Given the description of an element on the screen output the (x, y) to click on. 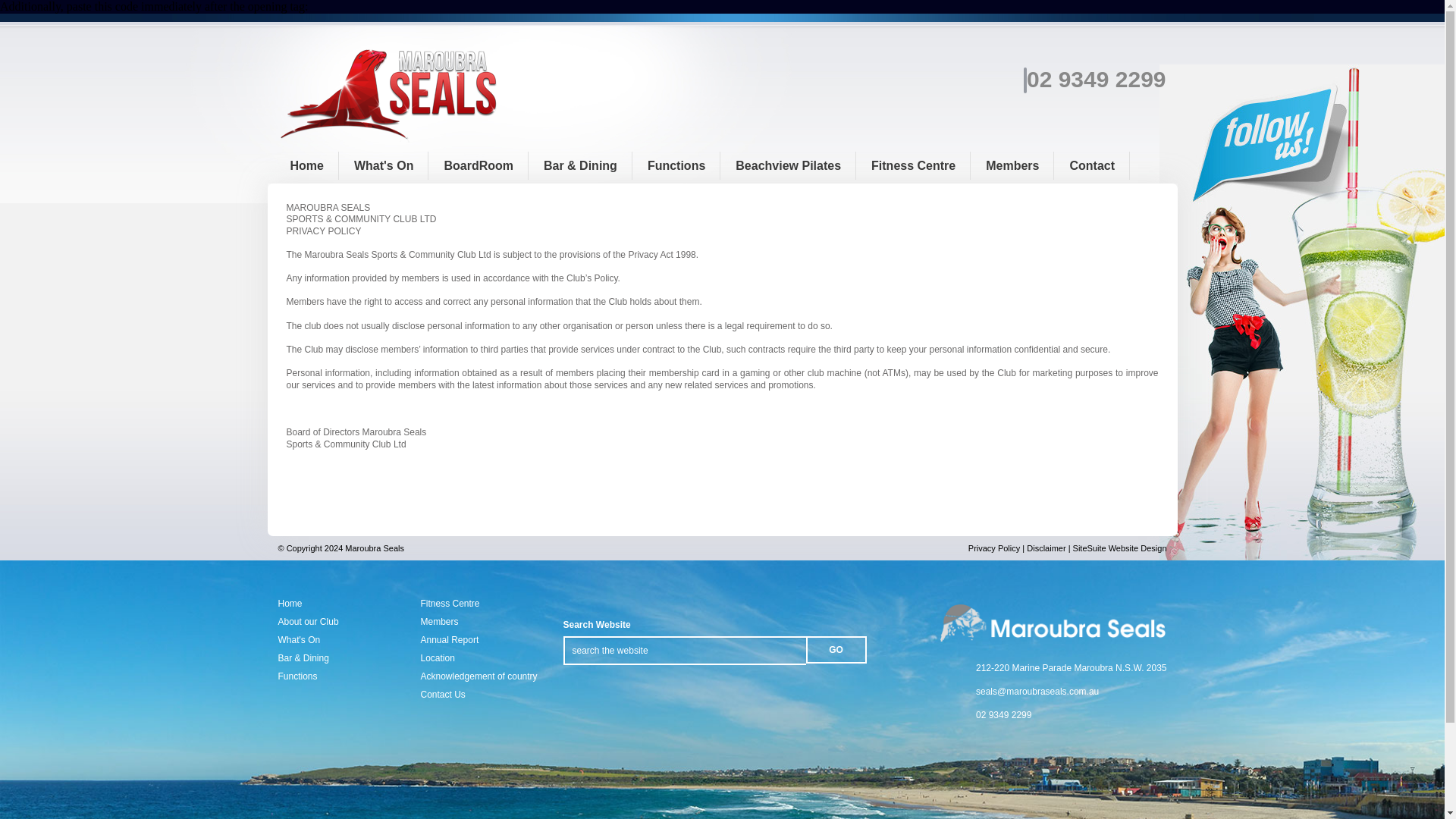
GO (835, 649)
GO (835, 649)
Beachview Pilates (788, 165)
Home (306, 165)
BoardRoom (478, 165)
Fitness Centre (913, 165)
02 9349 2299 (1094, 78)
Functions (675, 165)
Maroubra Seals Club Ltd (391, 140)
Contact (1091, 165)
Members (1012, 165)
What's On (383, 165)
